Given the description of an element on the screen output the (x, y) to click on. 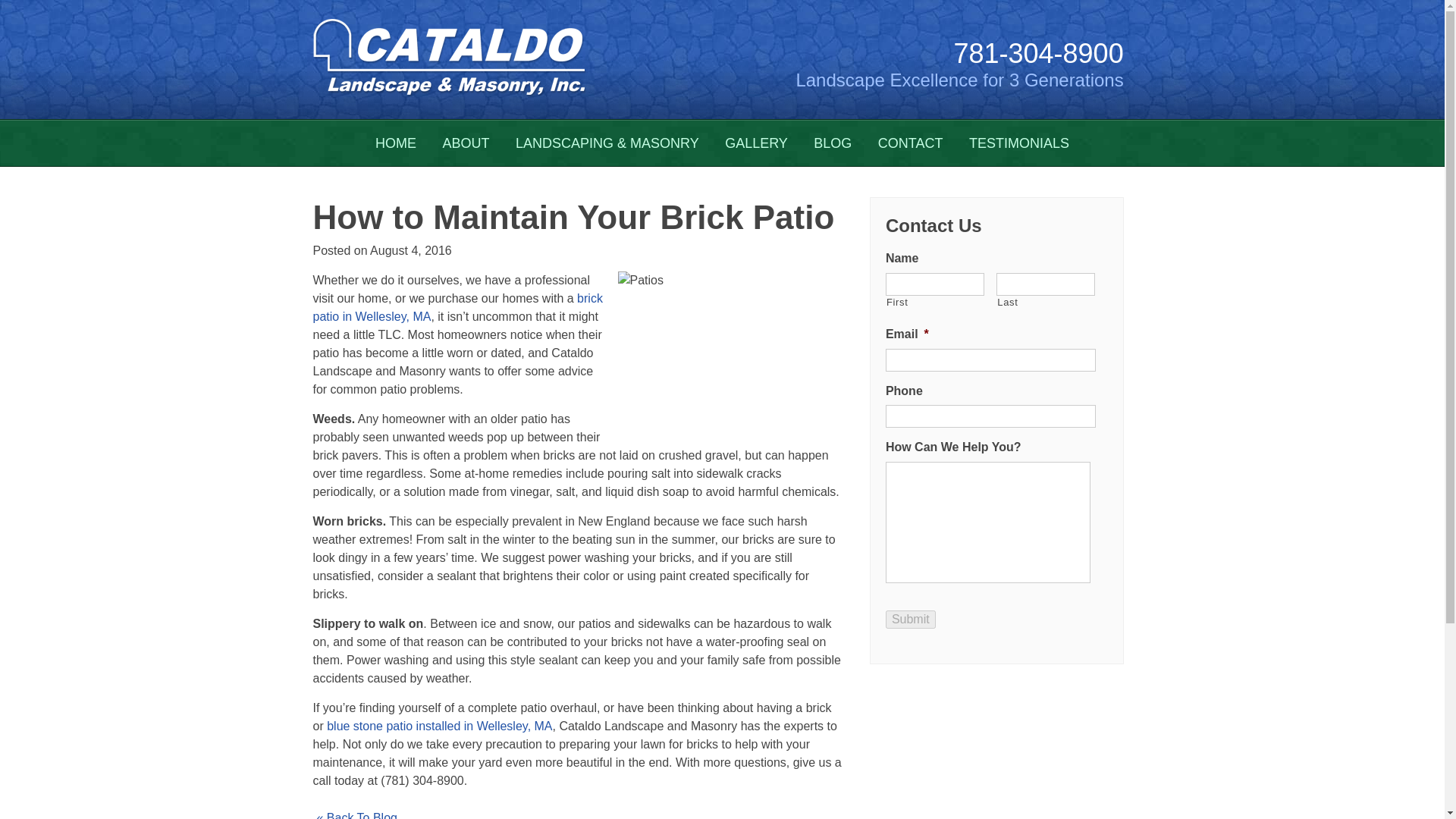
GALLERY (756, 143)
CONTACT (910, 143)
ABOUT (465, 143)
TESTIMONIALS (1018, 143)
HOME (395, 143)
Submit (910, 619)
Submit (910, 619)
brick patio in Wellesley, MA (457, 306)
blue stone patio installed in Wellesley, MA (438, 725)
